Given the description of an element on the screen output the (x, y) to click on. 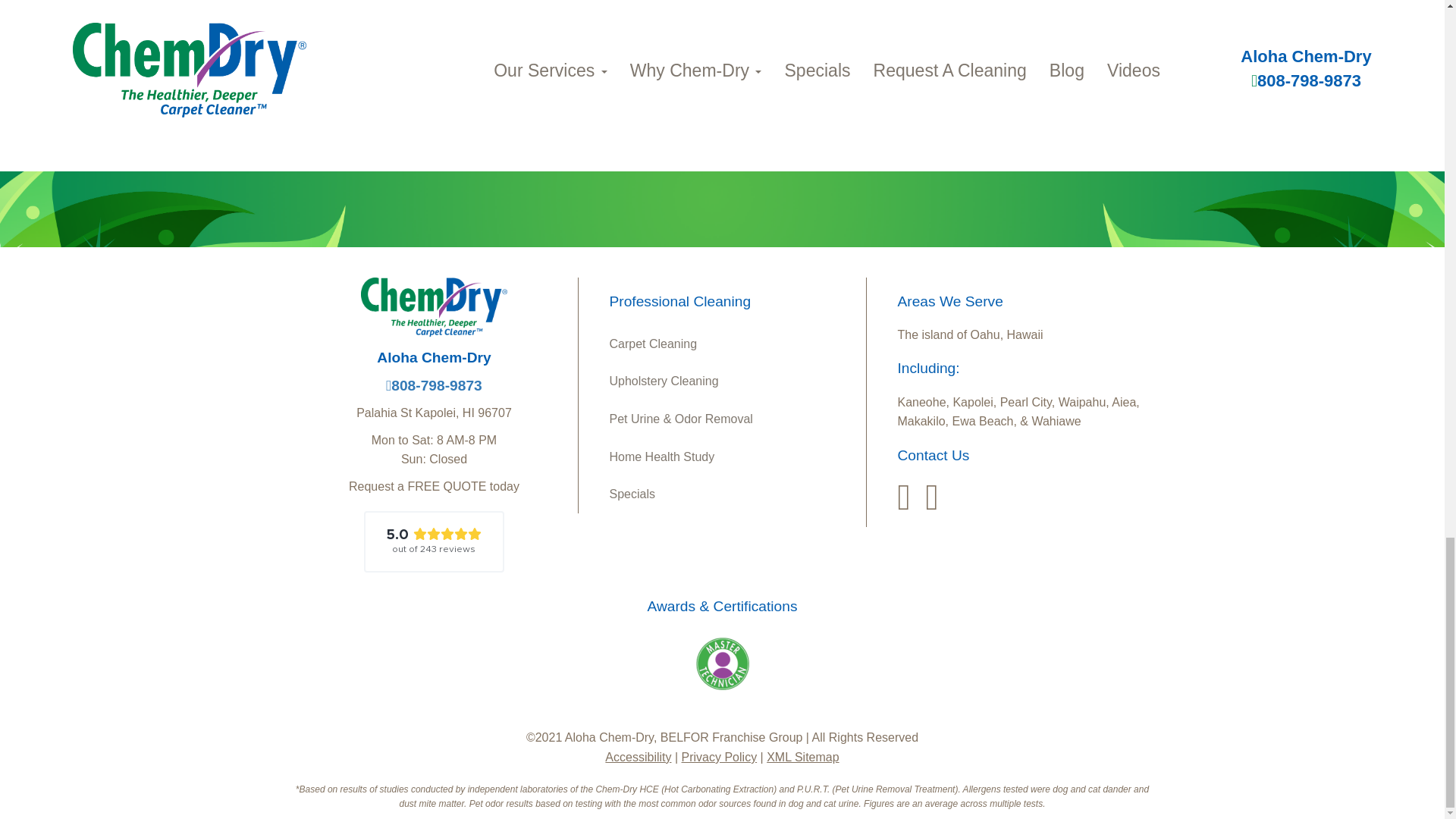
808-798-9873 (433, 385)
Master Technician Certification (722, 664)
Carpet Cleaning (731, 344)
Accessibility (638, 757)
Learn about our Residential Services (731, 344)
Chem-Dry Coupons (731, 494)
Home Health Study (731, 456)
Free Quote (988, 65)
Accessibility Disclosure (638, 757)
Specials (731, 494)
Upholstery Cleaning (731, 381)
Learn about our Home Health Study (731, 456)
Call Chem-Dry (433, 385)
Upholstery Cleaning (731, 381)
Privacy Policy (719, 757)
